Given the description of an element on the screen output the (x, y) to click on. 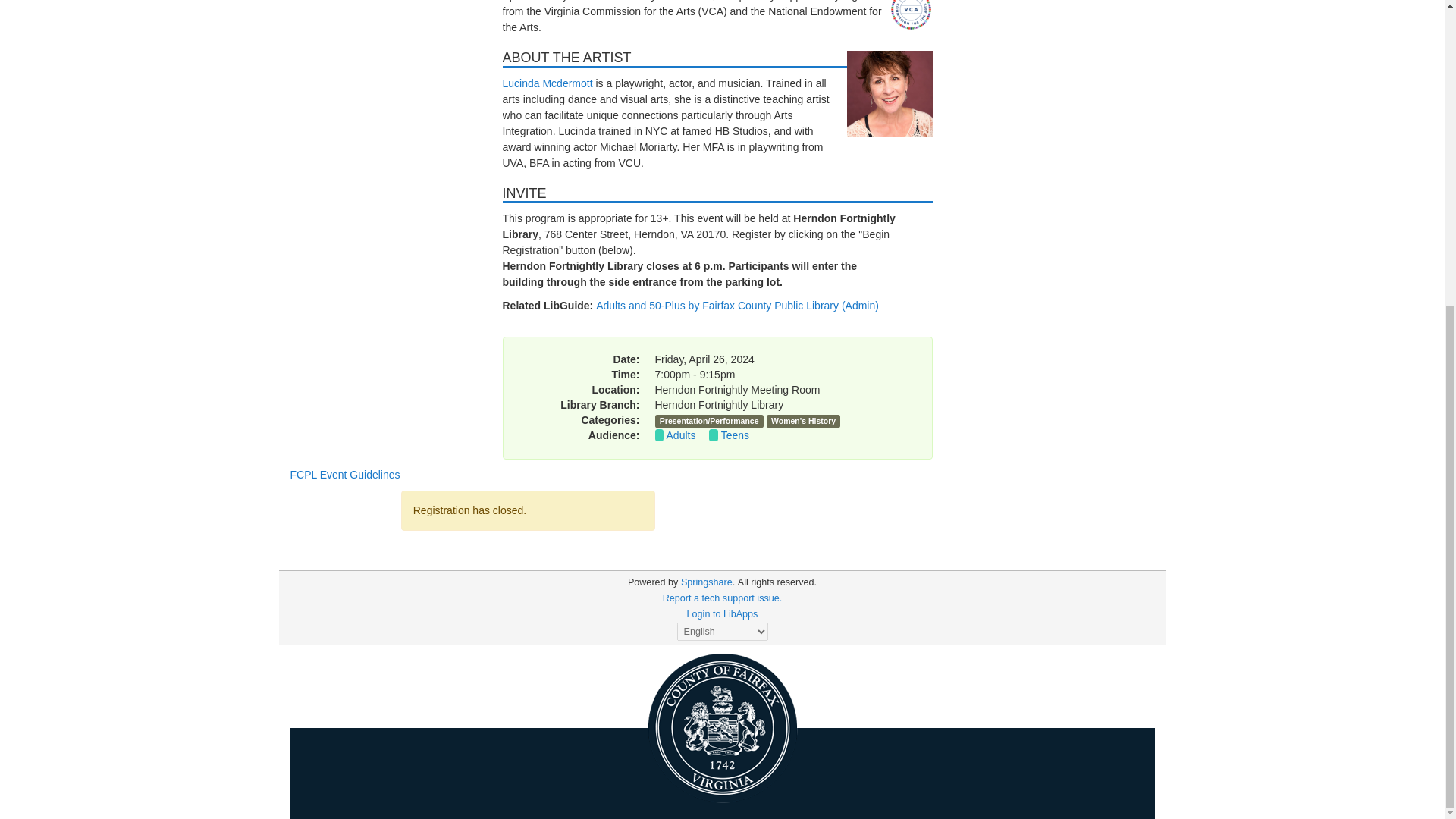
Teens (734, 435)
Report a tech support issue. (722, 597)
Adults (680, 435)
Springshare (706, 582)
Women's History (803, 420)
Login to LibApps (722, 614)
Lucinda Mcdermott (547, 82)
FCPL Event Guidelines (343, 474)
libcal-us-5 (652, 582)
